Given the description of an element on the screen output the (x, y) to click on. 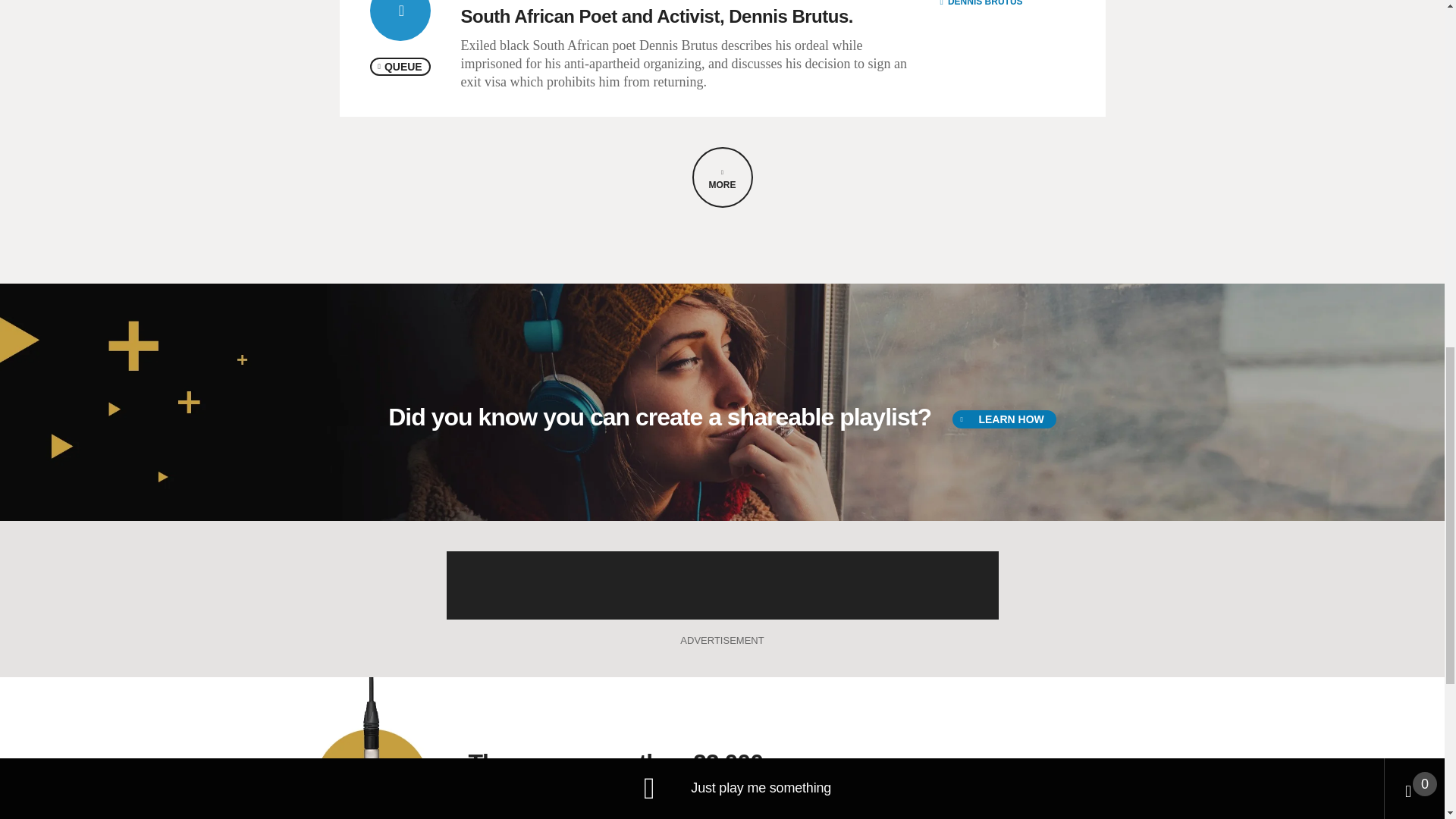
3rd party ad content (721, 585)
Search (1127, 800)
